Given the description of an element on the screen output the (x, y) to click on. 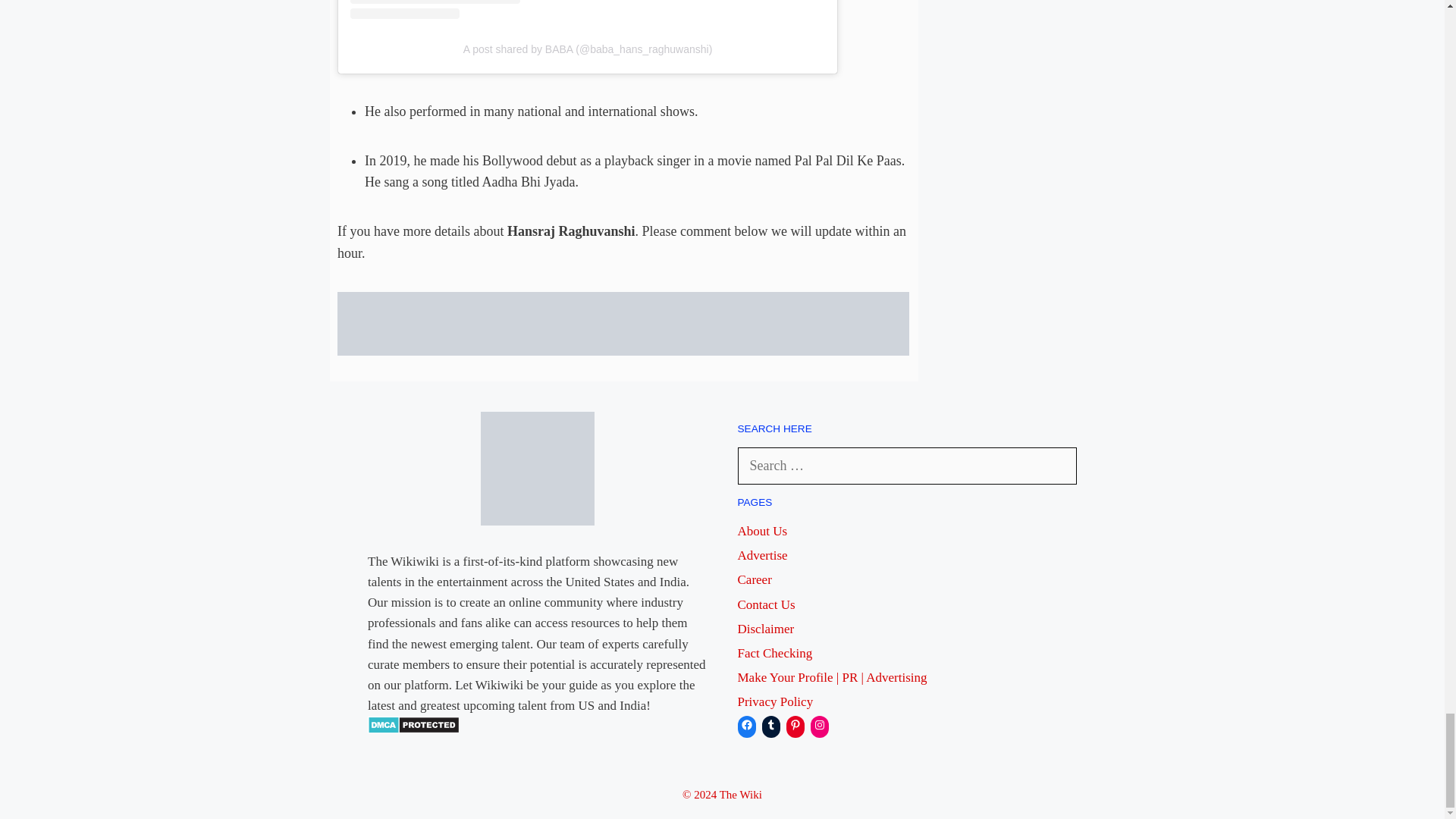
View this post on Instagram (587, 9)
Search for: (906, 465)
DMCA.com Protection Status (414, 729)
